Given the description of an element on the screen output the (x, y) to click on. 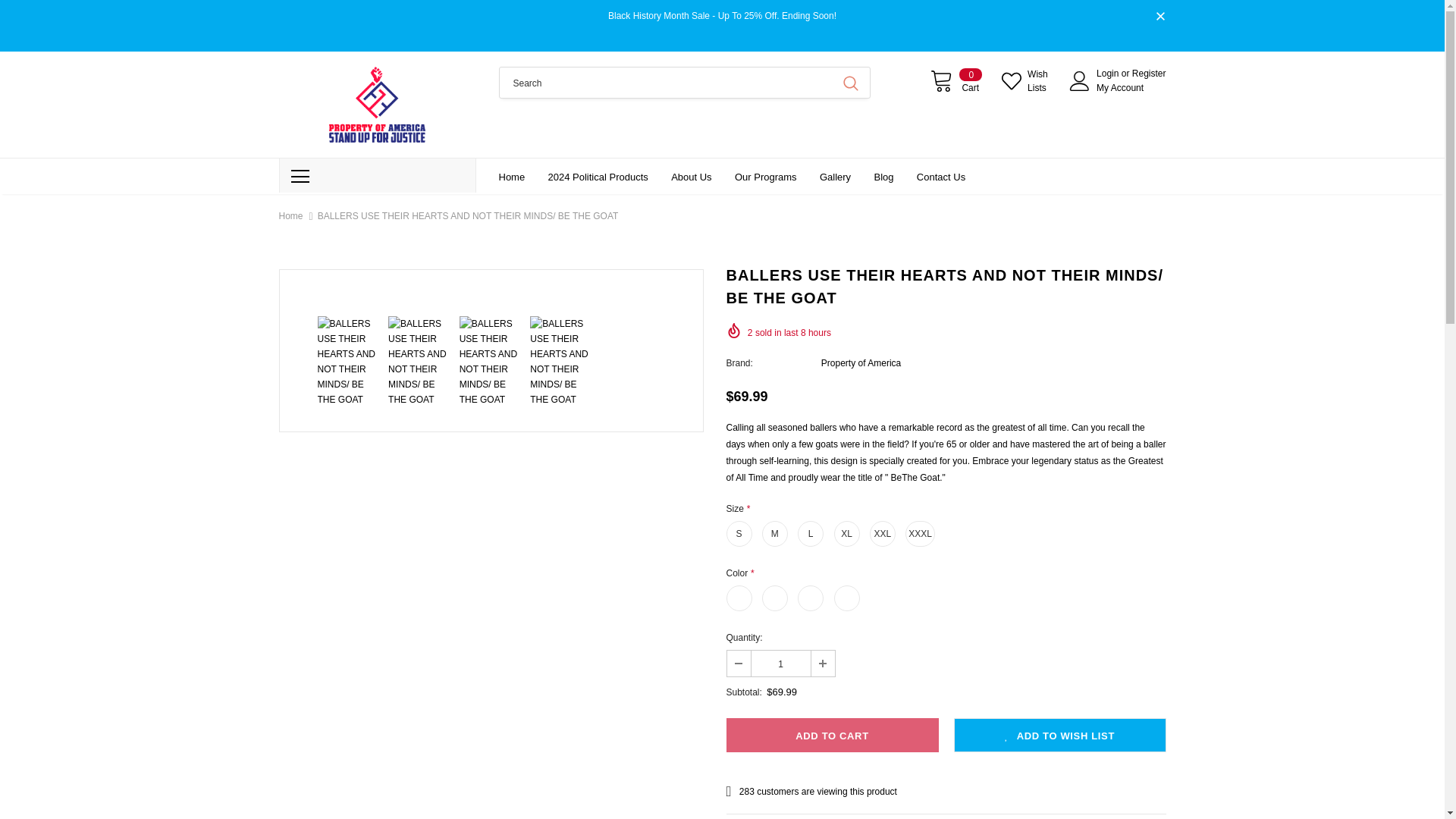
Our Programs (765, 175)
Wish Lists (1027, 80)
Register (1149, 72)
Property of America (861, 362)
Contact Us (941, 175)
close (1160, 16)
Logo (377, 104)
User Icon (1079, 80)
Login (1108, 72)
1 (780, 663)
